Given the description of an element on the screen output the (x, y) to click on. 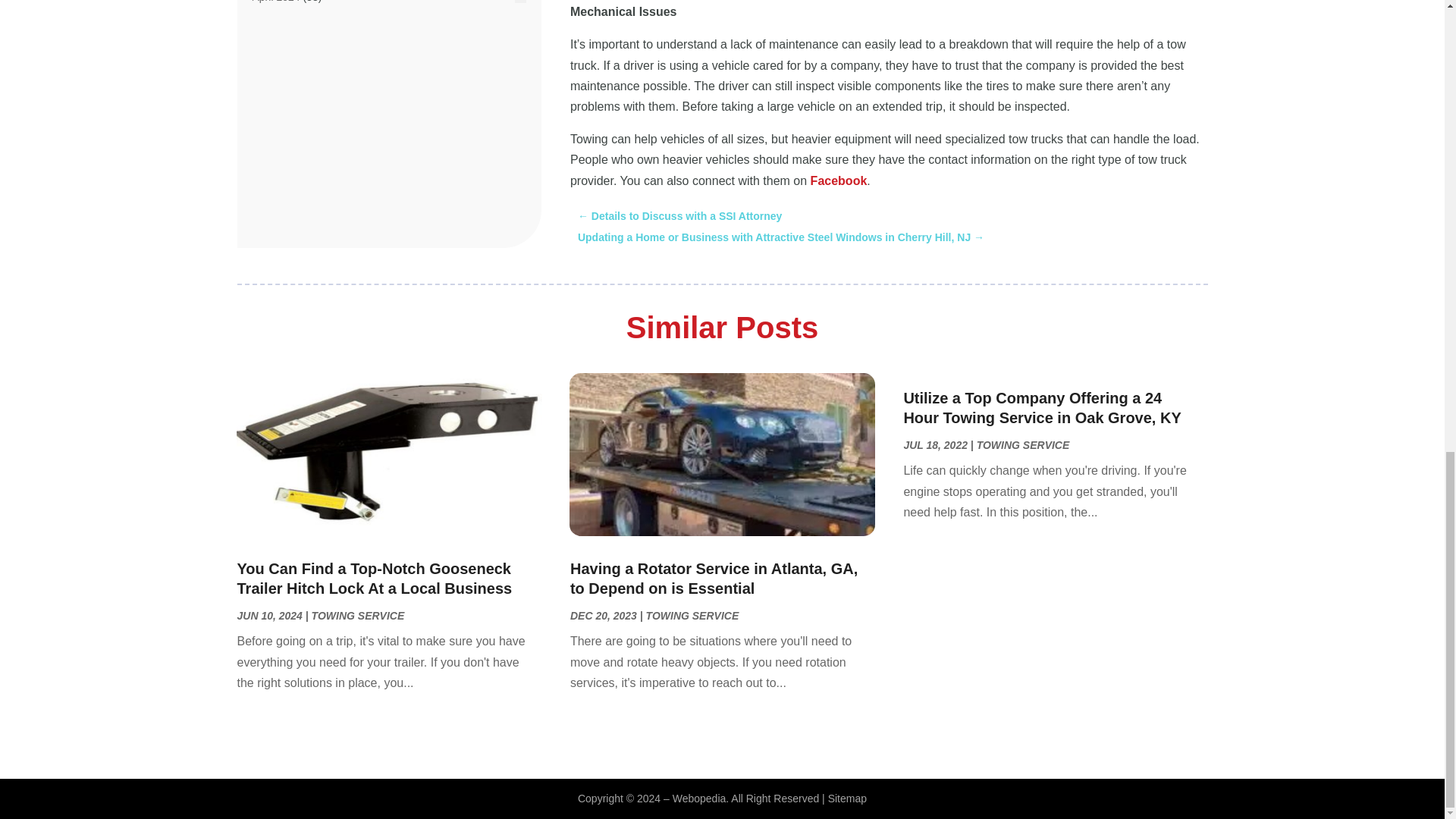
Animal Hospital (287, 227)
Air Duct Cleaning (292, 41)
Airport Shuttle Service (303, 103)
Air Quality Control System (313, 61)
Aircraft Cargo Loaders (304, 82)
Aluminium (276, 144)
Aluminum (274, 164)
Aluminum Supplier (295, 185)
Air Distribution (285, 21)
Air Conditioning Repair Service (324, 3)
